Given the description of an element on the screen output the (x, y) to click on. 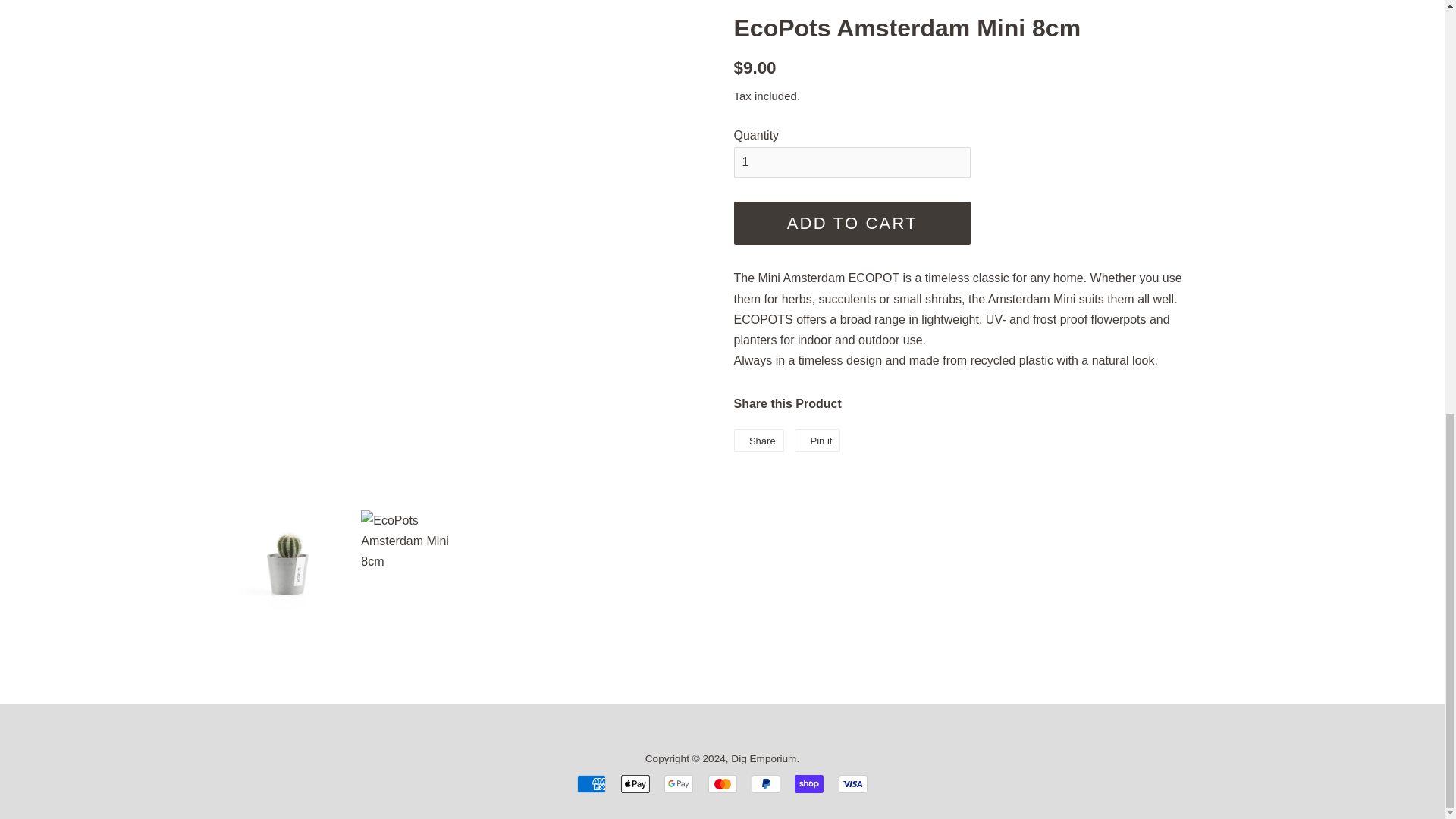
Shop Pay (809, 783)
Visa (852, 783)
American Express (590, 783)
PayPal (765, 783)
Share on Facebook (758, 440)
1 (852, 162)
Pin on Pinterest (817, 440)
Mastercard (721, 783)
Apple Pay (635, 783)
Google Pay (678, 783)
